Given the description of an element on the screen output the (x, y) to click on. 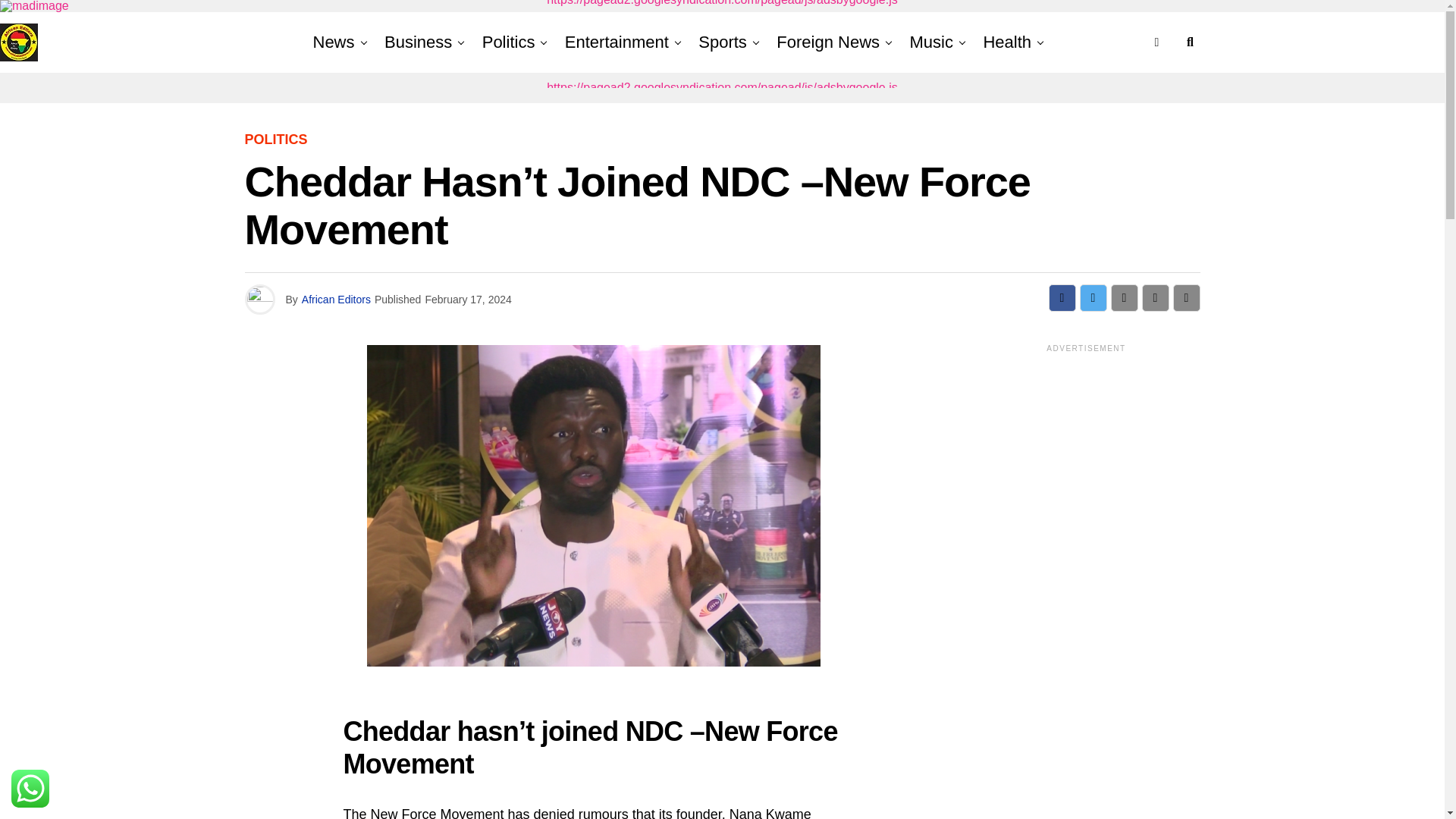
Sports (722, 42)
Business (418, 42)
Posts by African Editors (336, 299)
Politics (508, 42)
Share on Facebook (1061, 298)
Tweet This Post (1093, 298)
Entertainment (617, 42)
